Given the description of an element on the screen output the (x, y) to click on. 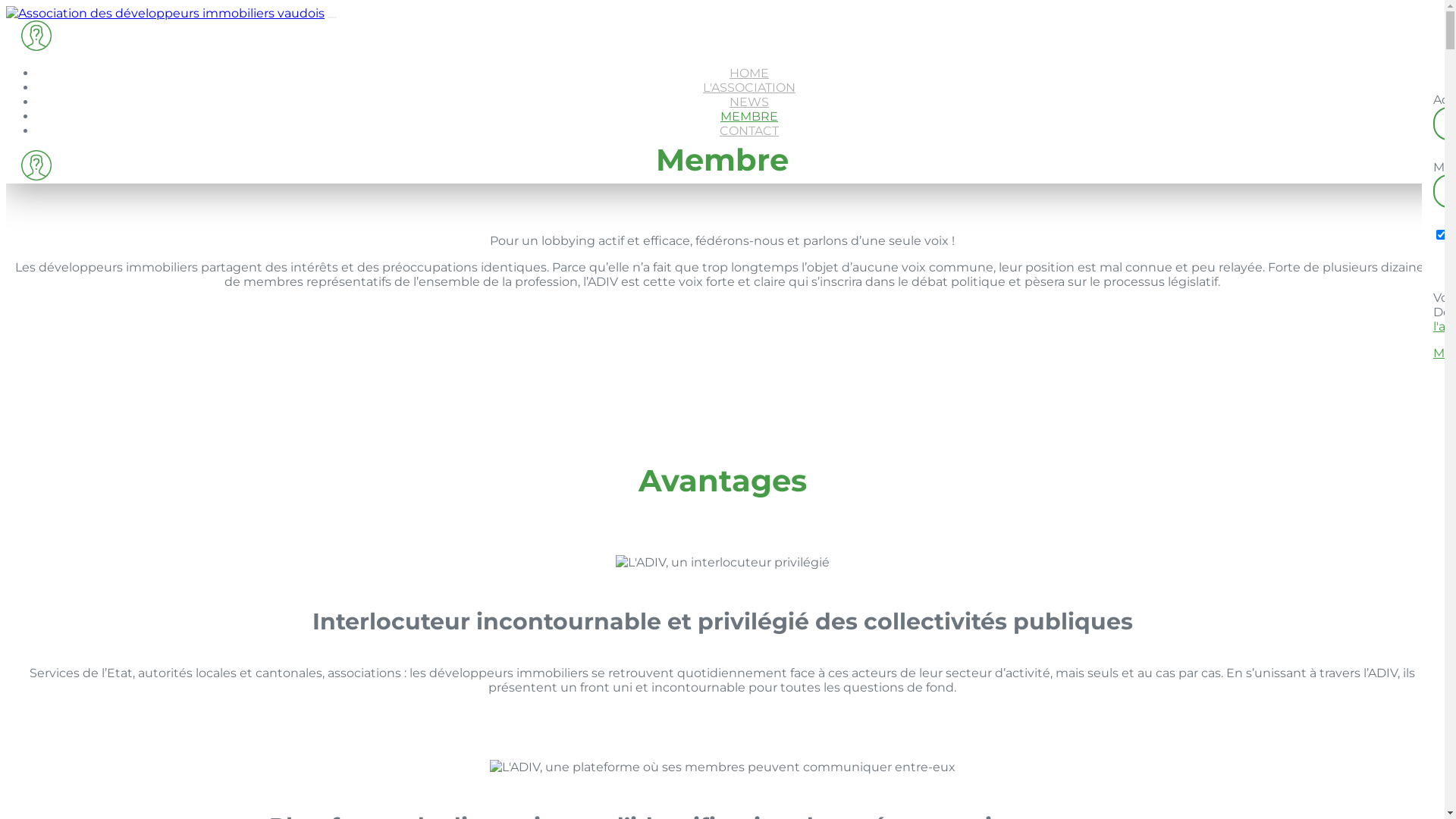
NEWS Element type: text (748, 101)
HOME Element type: text (748, 72)
L'ASSOCIATION Element type: text (748, 87)
CONTACT Element type: text (748, 130)
MEMBRE Element type: text (749, 116)
